Given the description of an element on the screen output the (x, y) to click on. 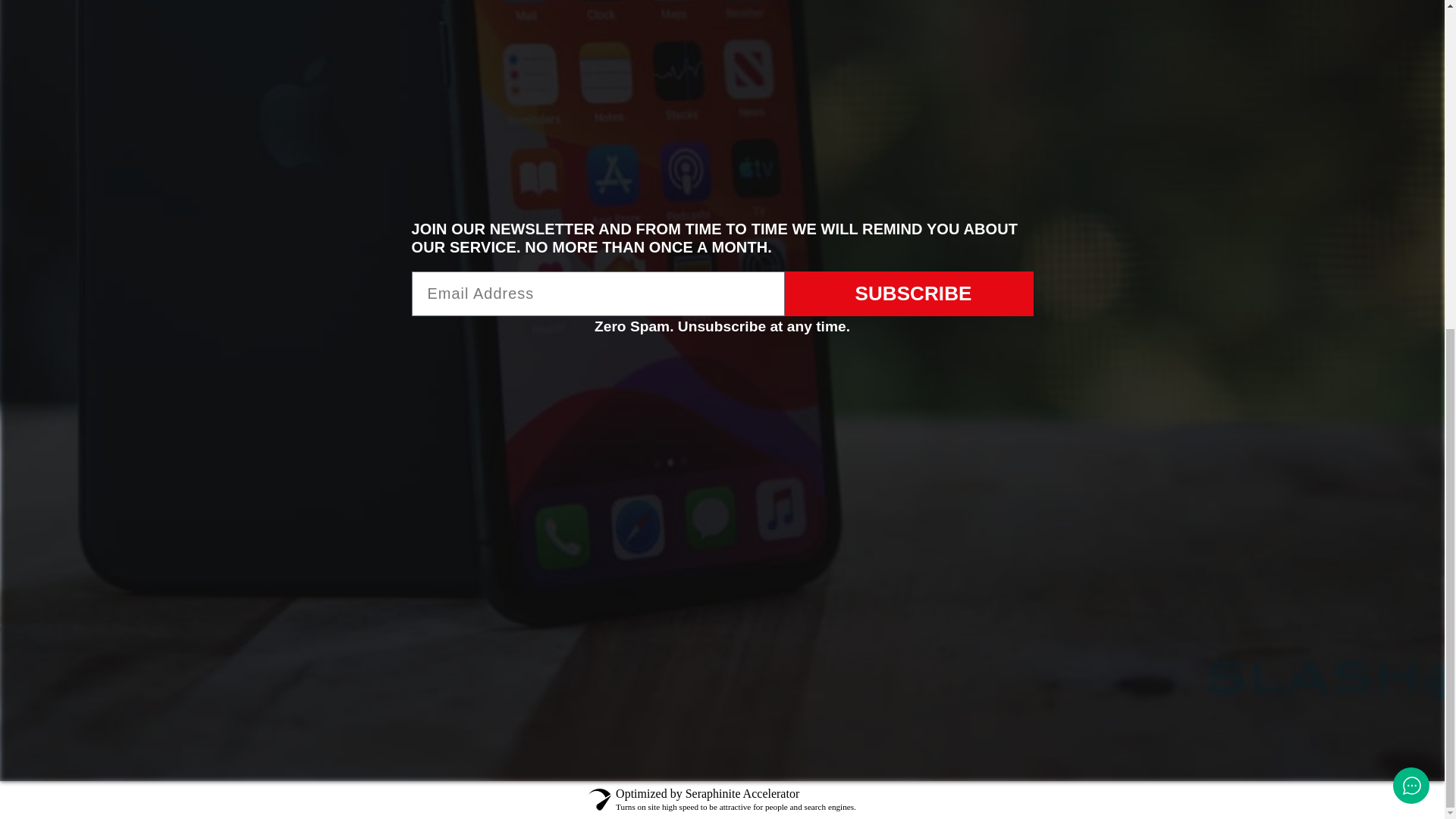
SUBSCRIBE (908, 293)
